Given the description of an element on the screen output the (x, y) to click on. 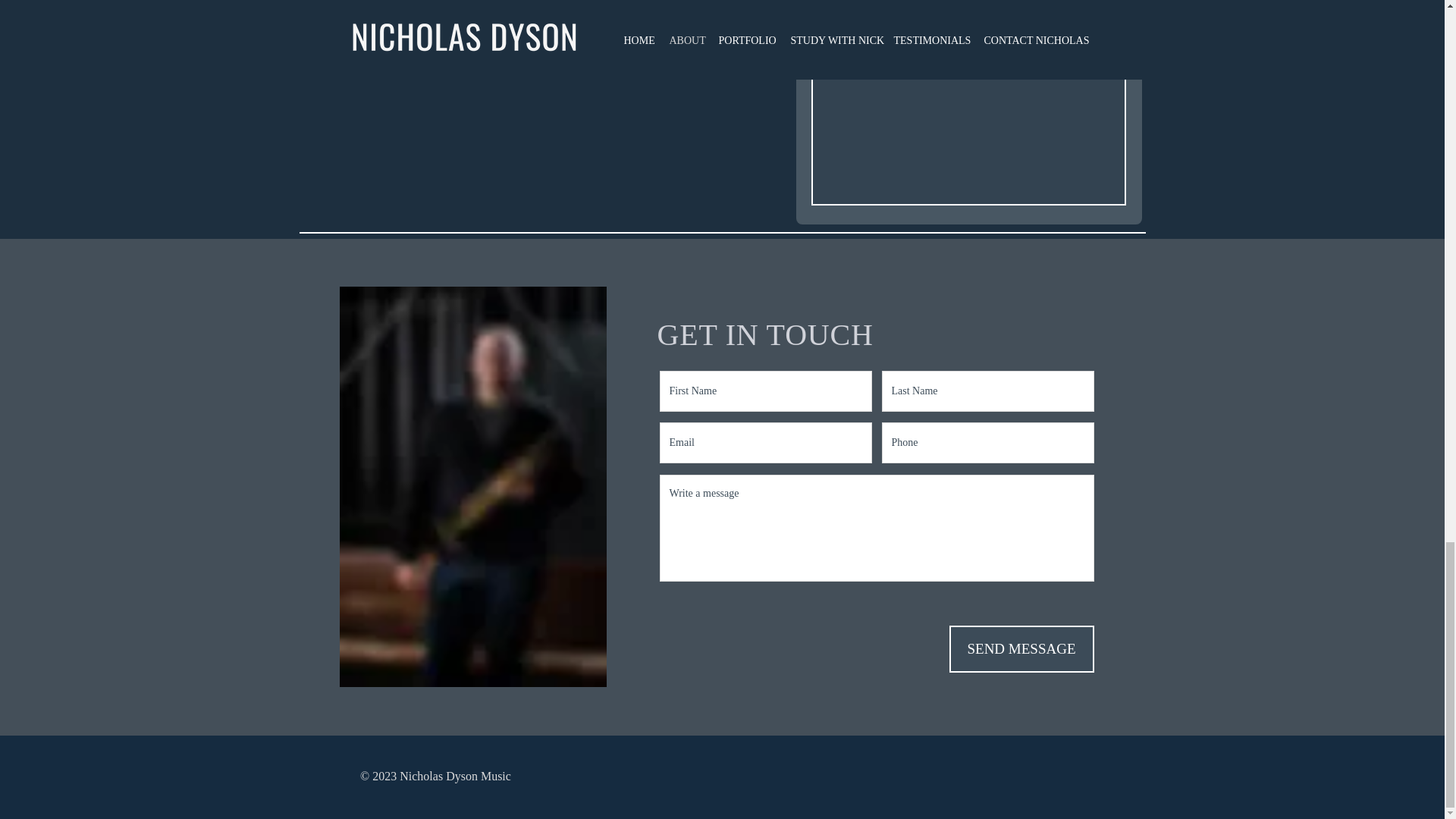
WORK WITH NICHOLAS (411, 442)
SEND MESSAGE (1021, 648)
VIEW PORTFOLIO (979, 442)
STUDY WITH NICHOLAS (708, 442)
